Given the description of an element on the screen output the (x, y) to click on. 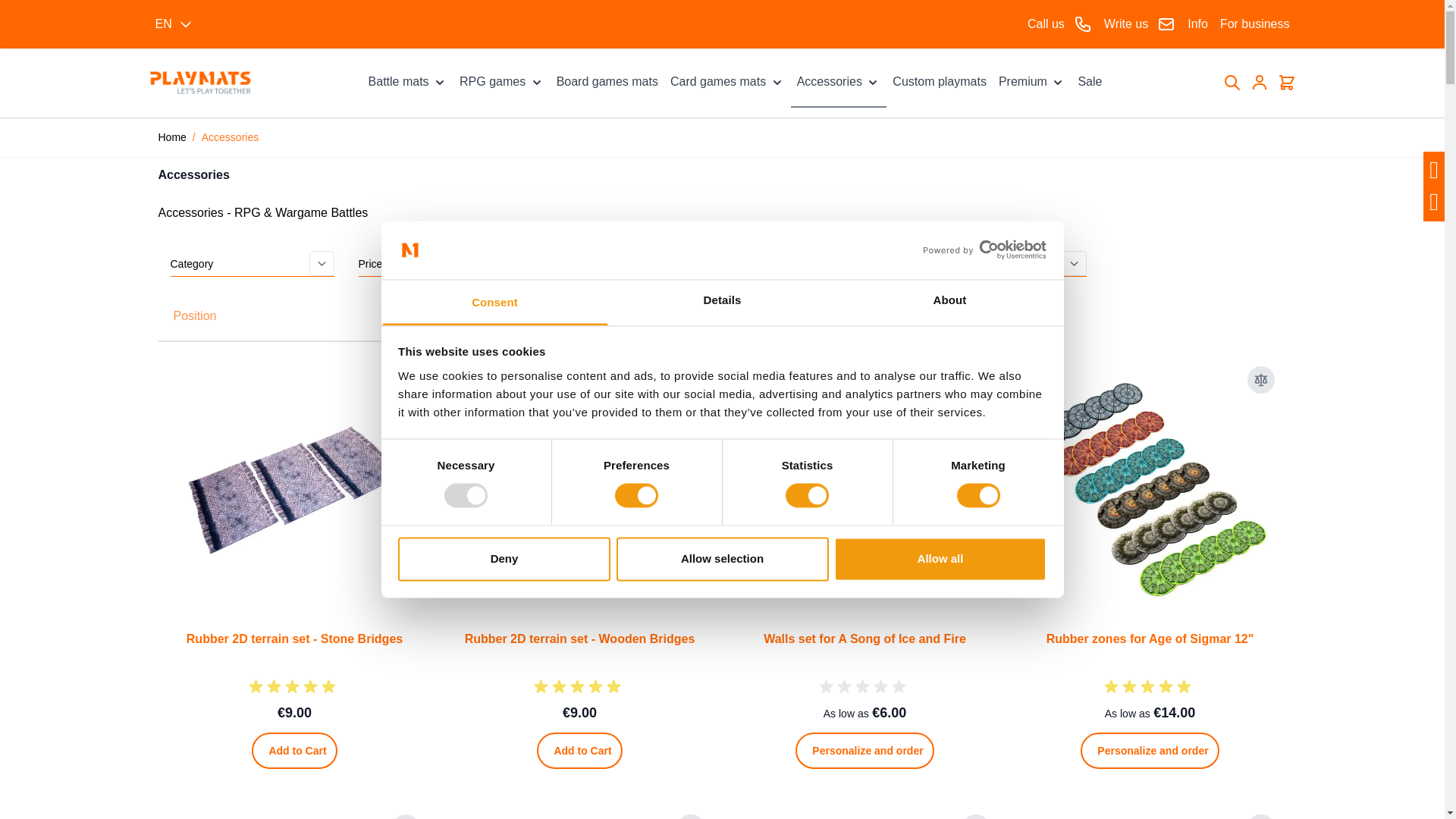
Consent (494, 302)
chevron-down (439, 82)
chevron-down (777, 82)
Details (721, 302)
chevron-down (872, 82)
Manufacturer of playmats and accessories - Playmats (199, 82)
About (948, 302)
chevron-down (536, 82)
chevron-down (1057, 82)
